Given the description of an element on the screen output the (x, y) to click on. 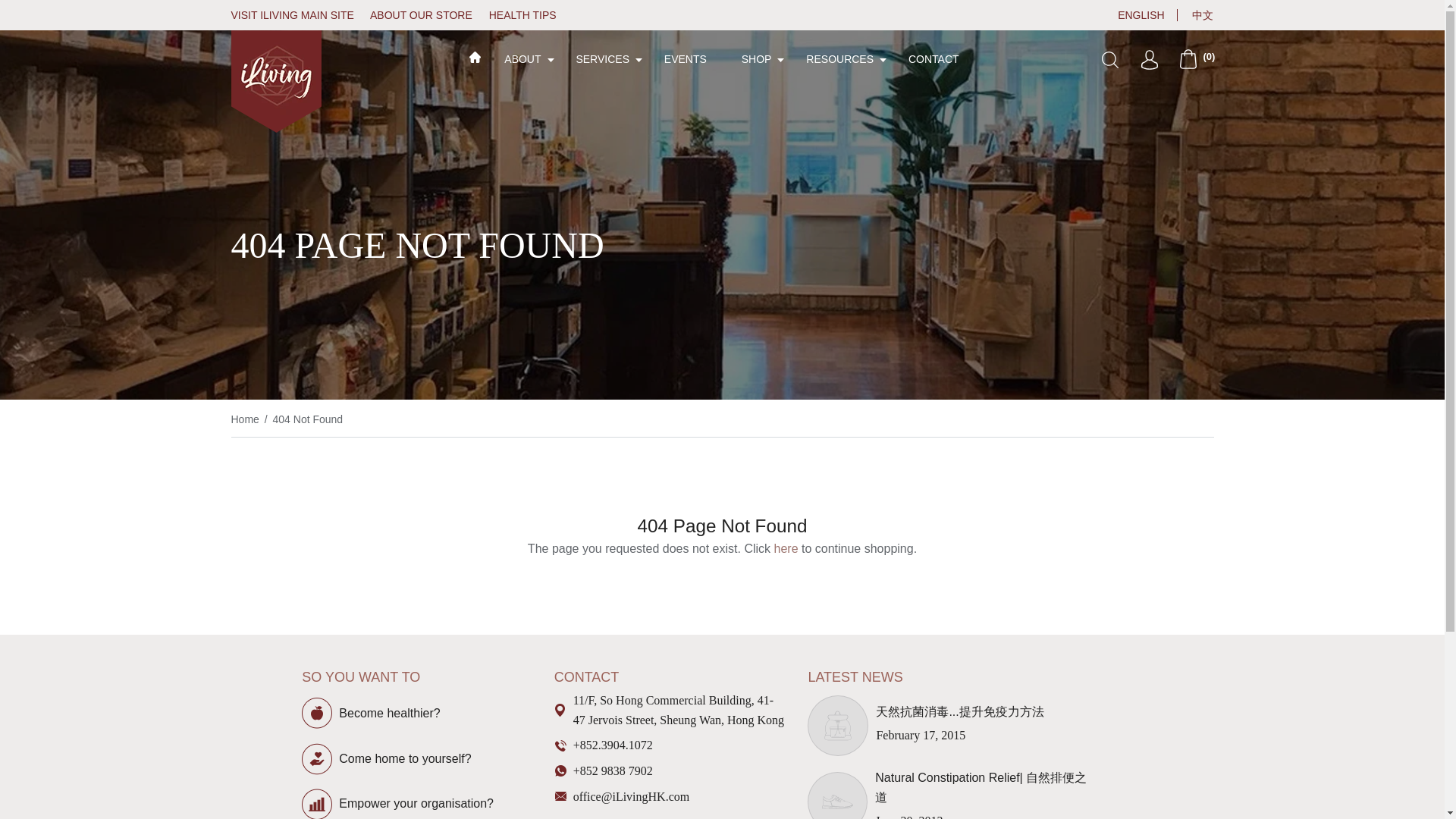
ABOUT OUR STORE (427, 15)
ENGLISH (1134, 15)
EVENTS (684, 58)
SHOP (756, 58)
ABOUT (521, 58)
HEALTH TIPS (529, 15)
SERVICES (602, 58)
VISIT ILIVING MAIN SITE (298, 15)
